Given the description of an element on the screen output the (x, y) to click on. 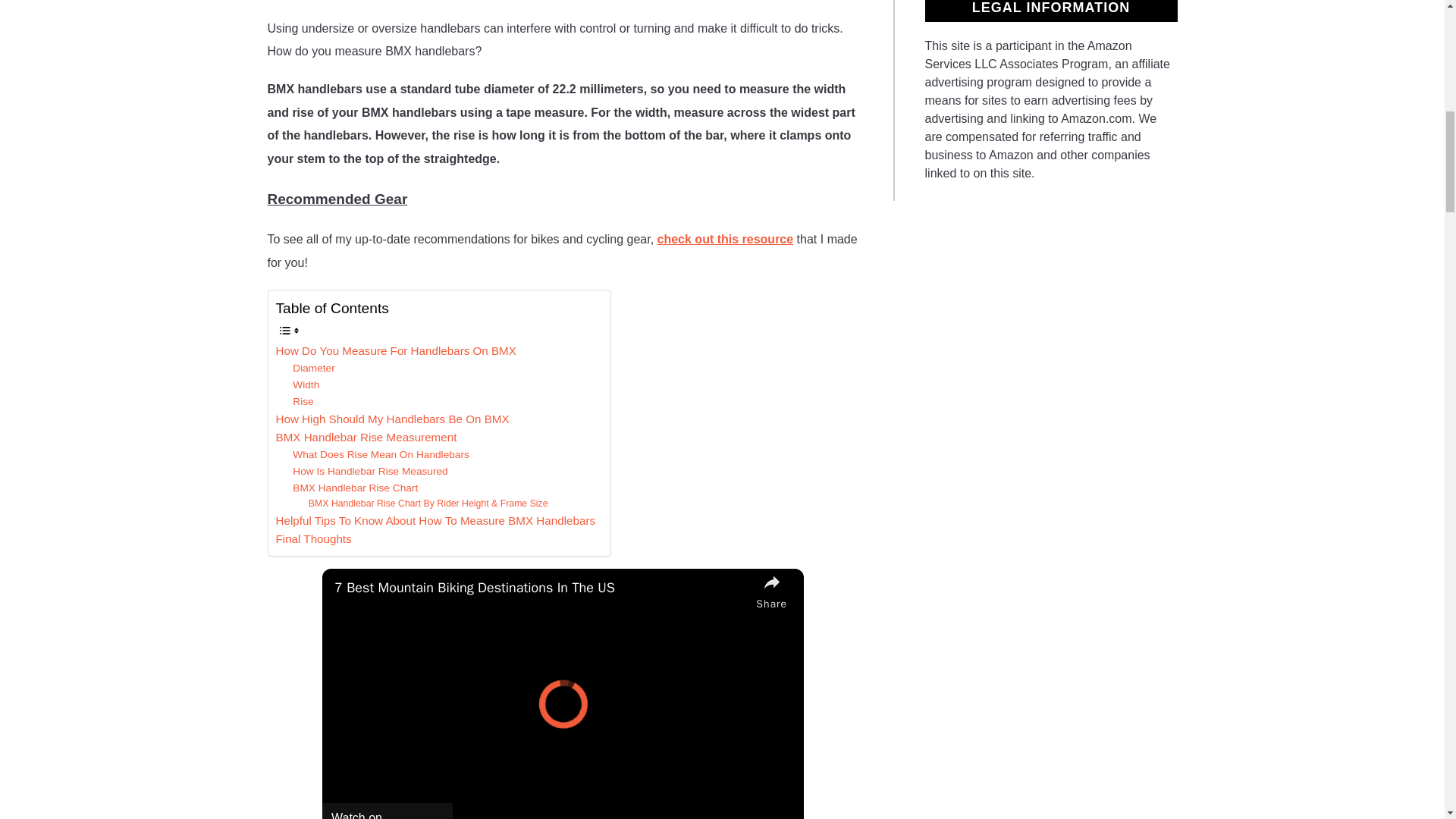
What Does Rise Mean On Handlebars (380, 454)
Final Thoughts (314, 538)
7 Best Mountain Biking Destinations In The US (541, 588)
share (771, 589)
Helpful Tips To Know About How To Measure BMX Handlebars (435, 520)
How High Should My Handlebars Be On BMX (392, 419)
Diameter (313, 368)
Share (771, 589)
How Is Handlebar Rise Measured (369, 471)
How Do You Measure For Handlebars On BMX (396, 351)
Diameter (313, 368)
Rise (302, 401)
What Does Rise Mean On Handlebars (380, 454)
BMX Handlebar Rise Chart (354, 487)
How Is Handlebar Rise Measured (369, 471)
